Given the description of an element on the screen output the (x, y) to click on. 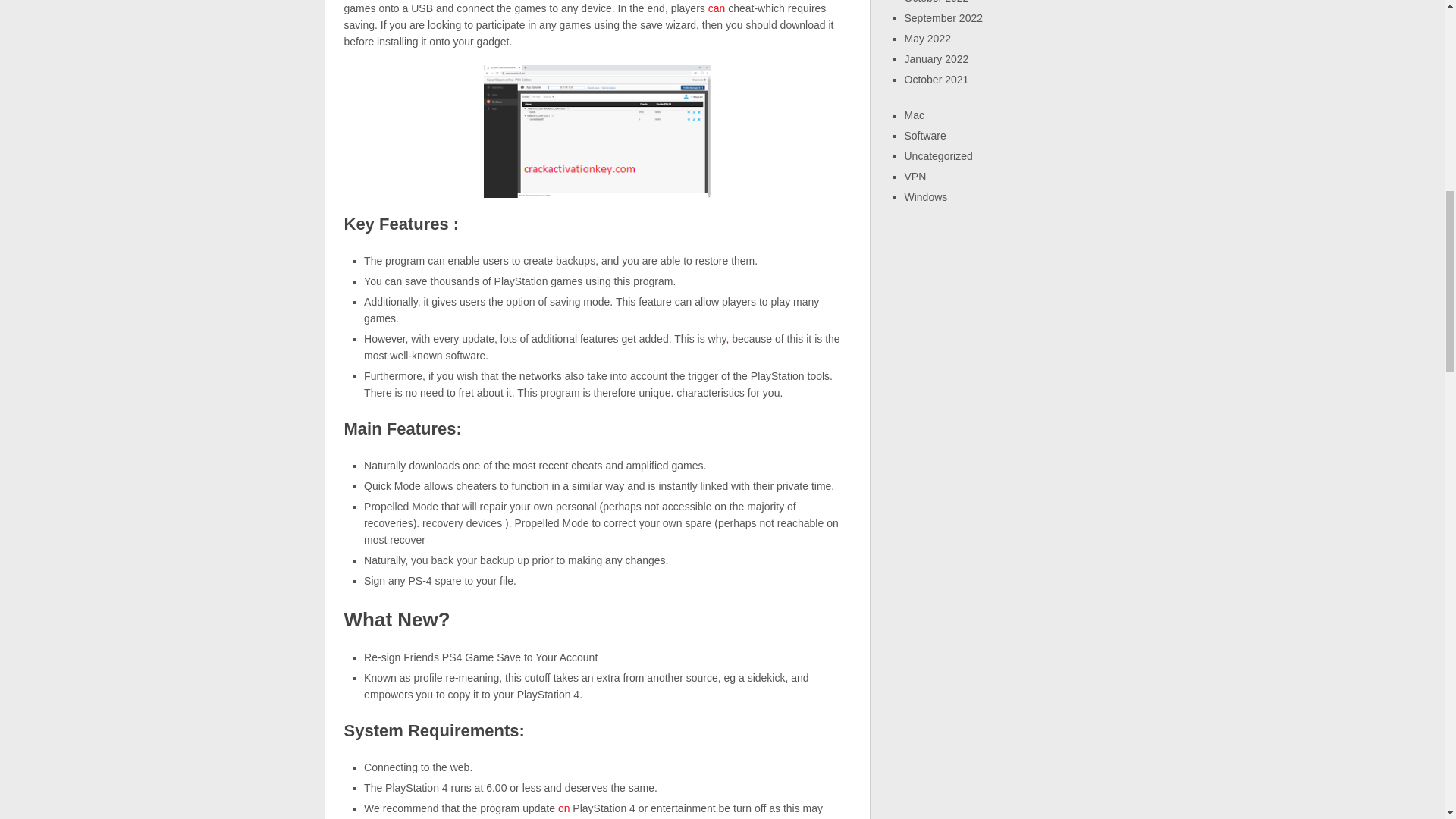
on (563, 808)
can (716, 8)
